Given the description of an element on the screen output the (x, y) to click on. 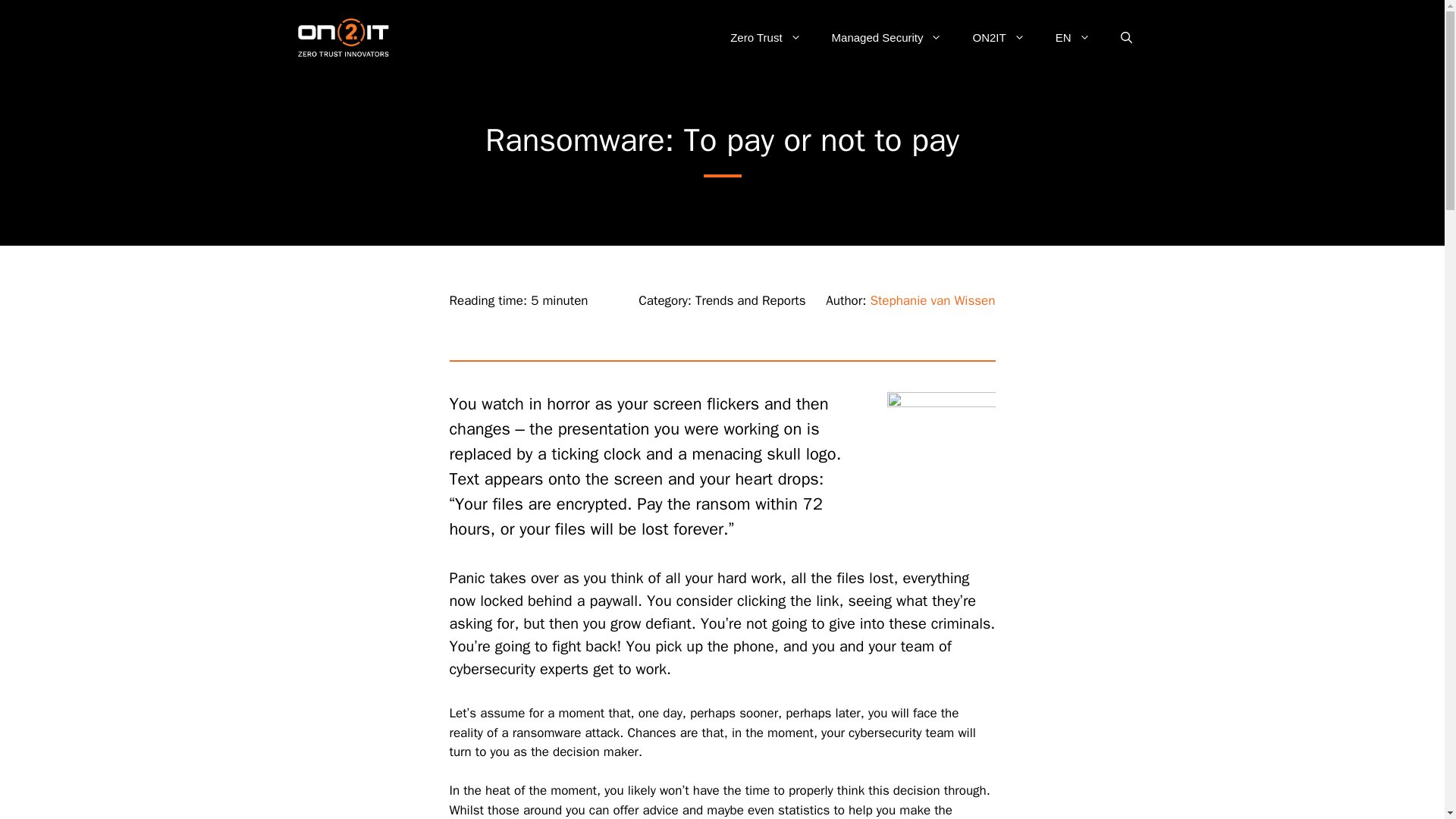
Stephanie van Wissen (931, 300)
Managed Security (887, 37)
Zero Trust (764, 37)
EN (1073, 37)
EN (1073, 37)
ON2IT (997, 37)
